Given the description of an element on the screen output the (x, y) to click on. 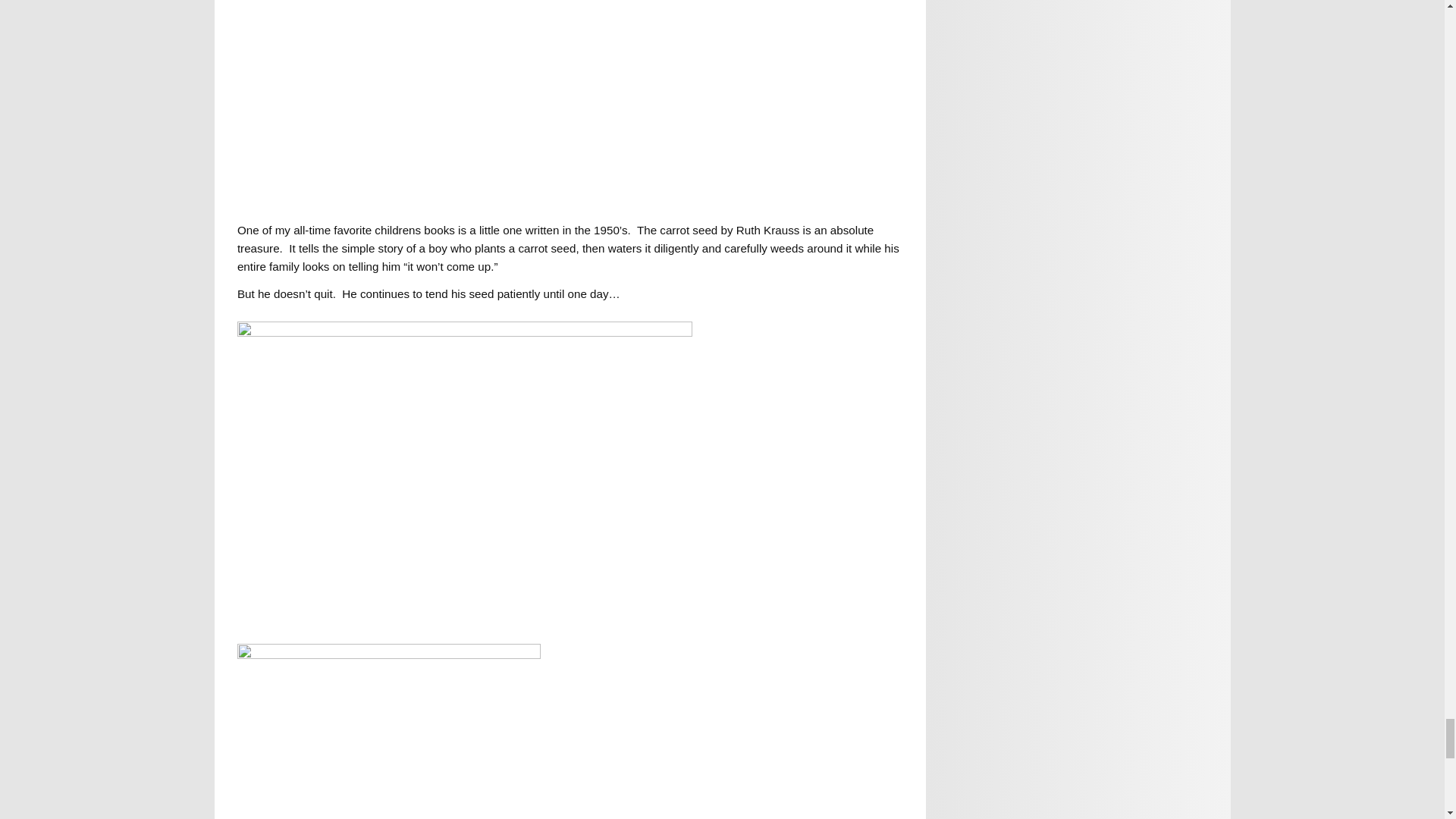
the carrot seed in old windows (465, 110)
just as he knew it would (388, 731)
